Given the description of an element on the screen output the (x, y) to click on. 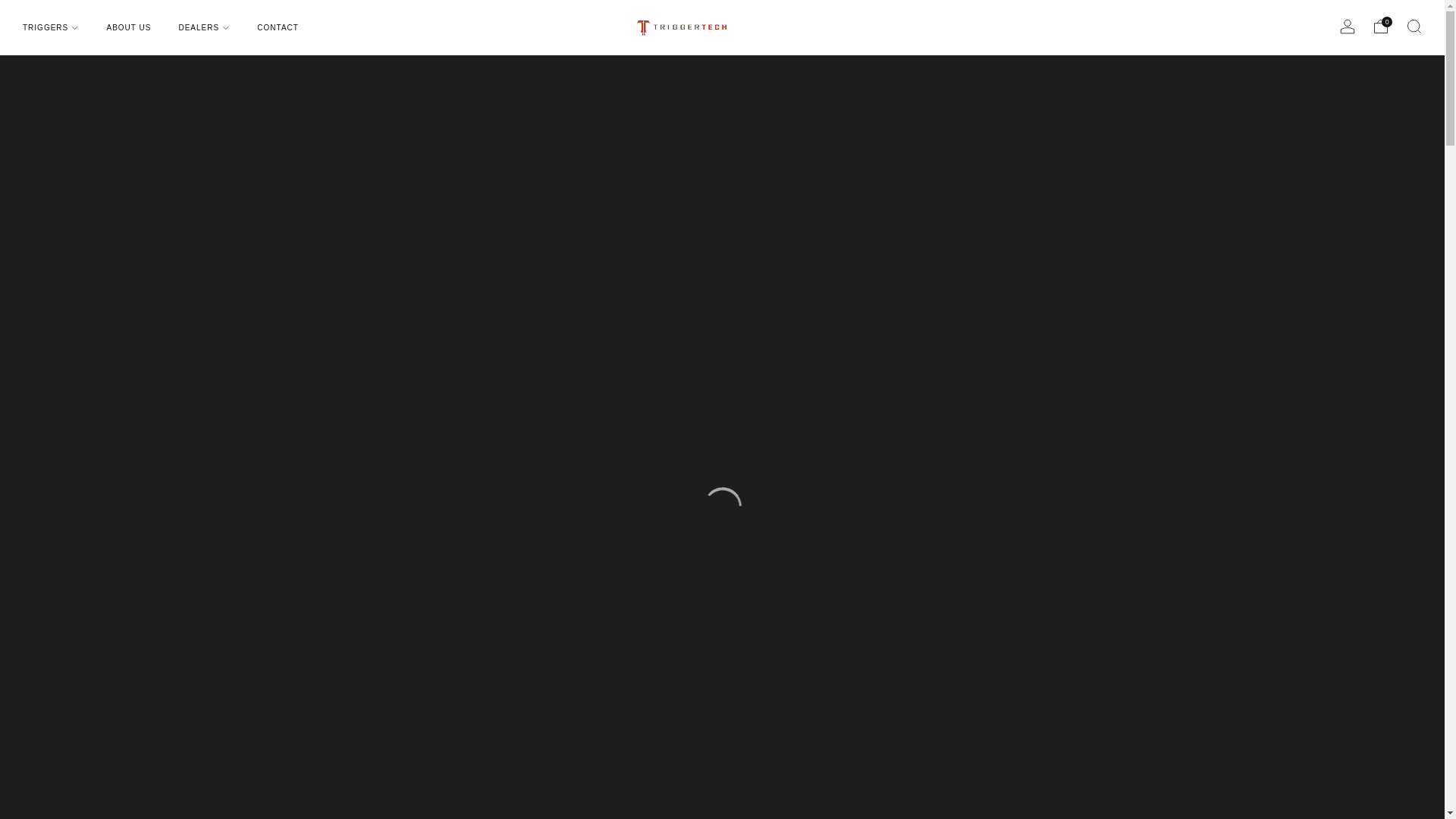
ABOUT US (128, 27)
0 (1381, 26)
DEALERS (203, 27)
CONTACT (277, 27)
TRIGGERS (50, 27)
